Given the description of an element on the screen output the (x, y) to click on. 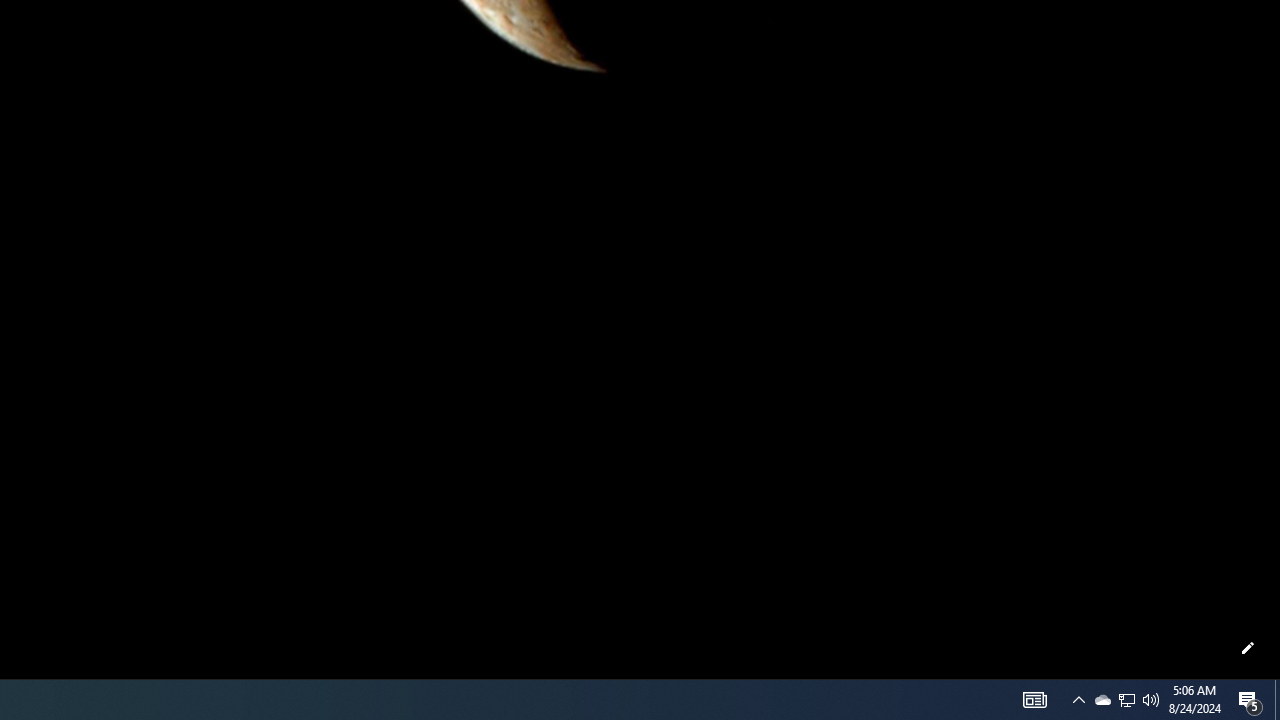
Customize this page (1247, 647)
